Given the description of an element on the screen output the (x, y) to click on. 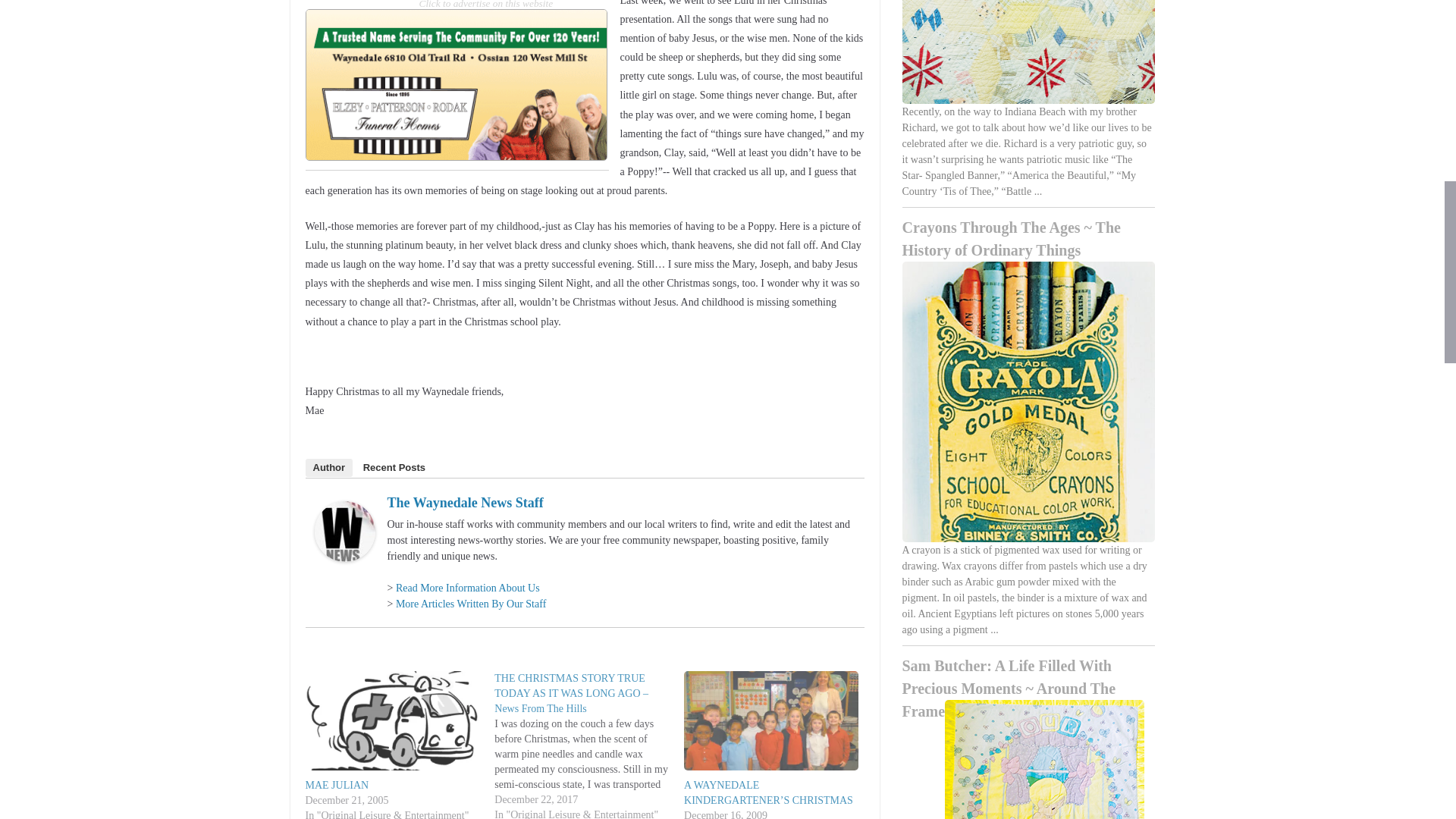
Click to advertise on this website (486, 4)
Read More Information About Us (468, 587)
MAE JULIAN (336, 785)
MAE JULIAN (336, 785)
Author (328, 467)
The Waynedale News Staff (465, 502)
More Articles Written By Our Staff (471, 603)
Recent Posts (393, 467)
